Given the description of an element on the screen output the (x, y) to click on. 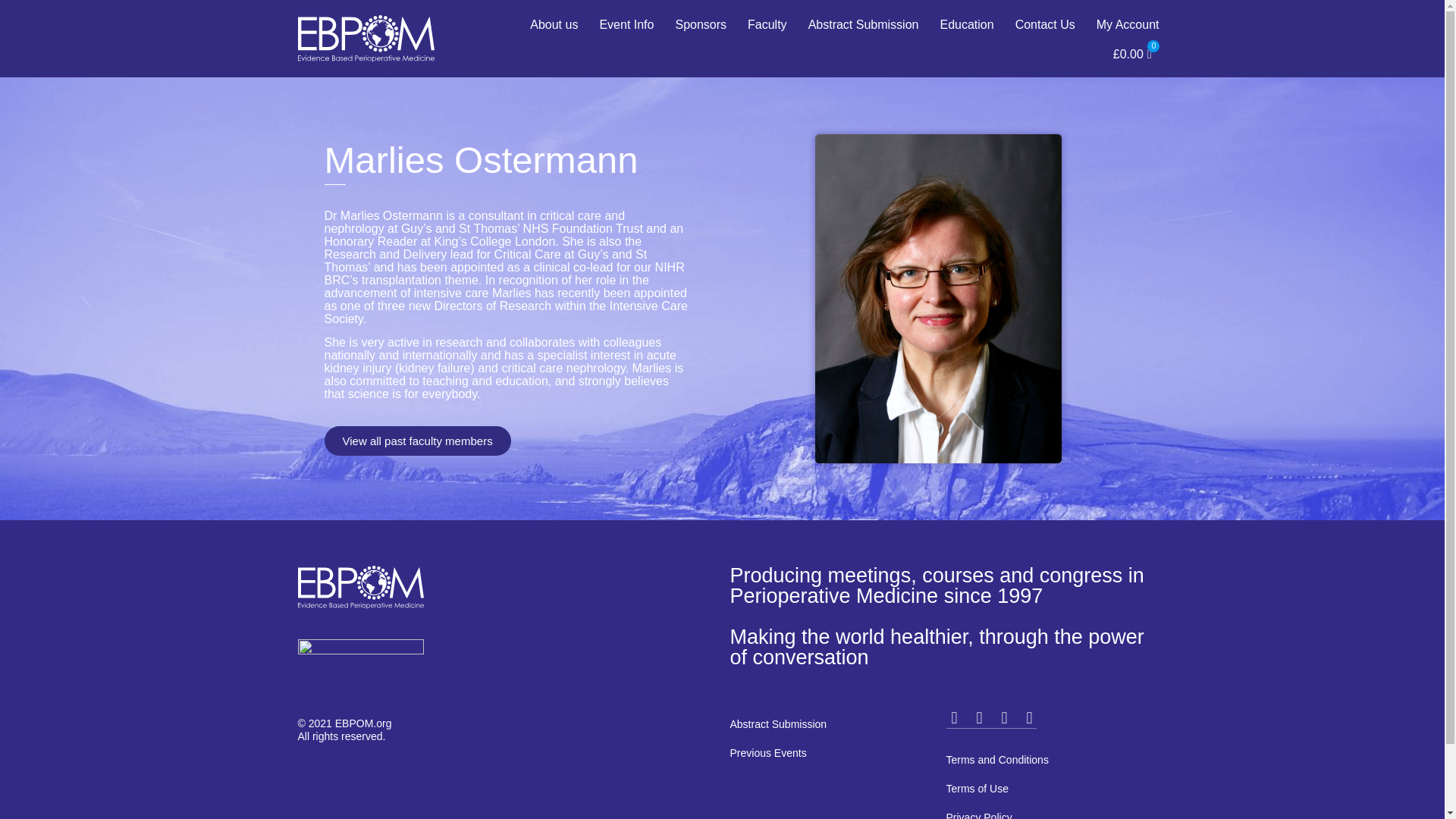
Sponsors (699, 23)
Contact Us (1045, 23)
About us (553, 23)
My Account (1128, 23)
Event Info (625, 23)
Faculty (766, 23)
Education (966, 23)
Abstract Submission (863, 23)
